Given the description of an element on the screen output the (x, y) to click on. 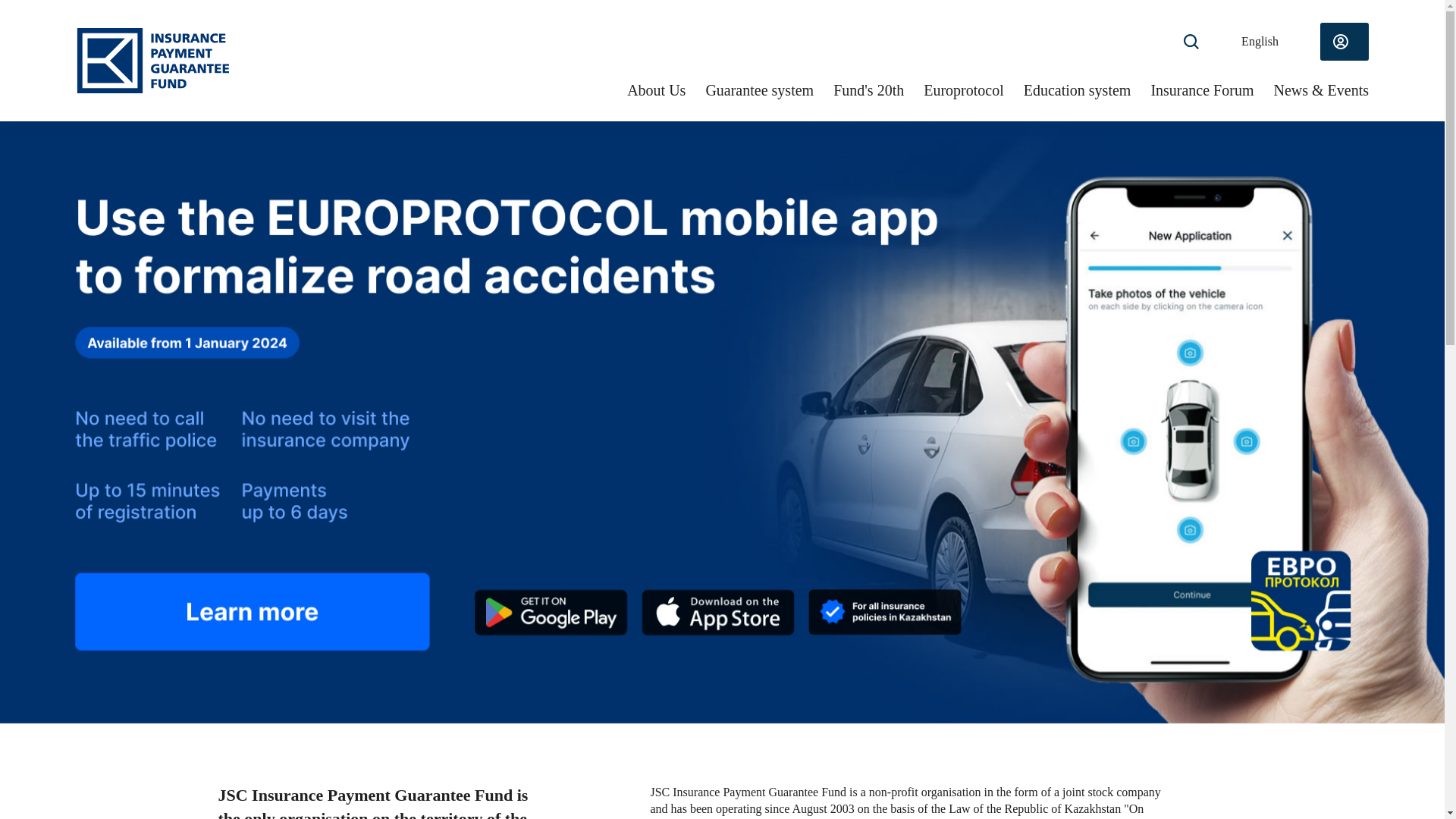
Fund's 20th (868, 92)
About Us (656, 92)
Education system (1077, 92)
Europrotocol (963, 92)
Insurance Forum (1201, 92)
Guarantee system (758, 92)
